Given the description of an element on the screen output the (x, y) to click on. 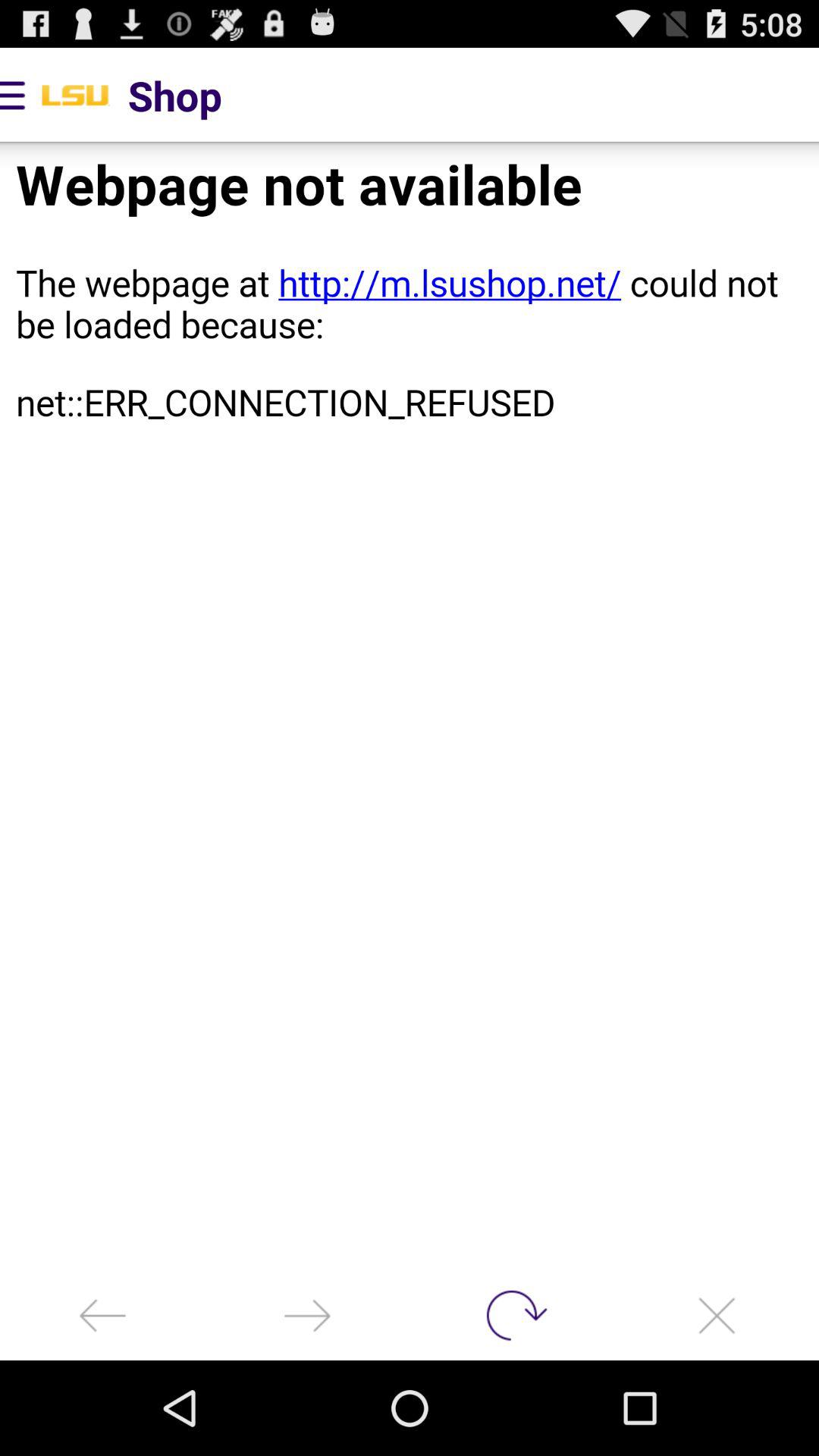
go to back (102, 1315)
